Given the description of an element on the screen output the (x, y) to click on. 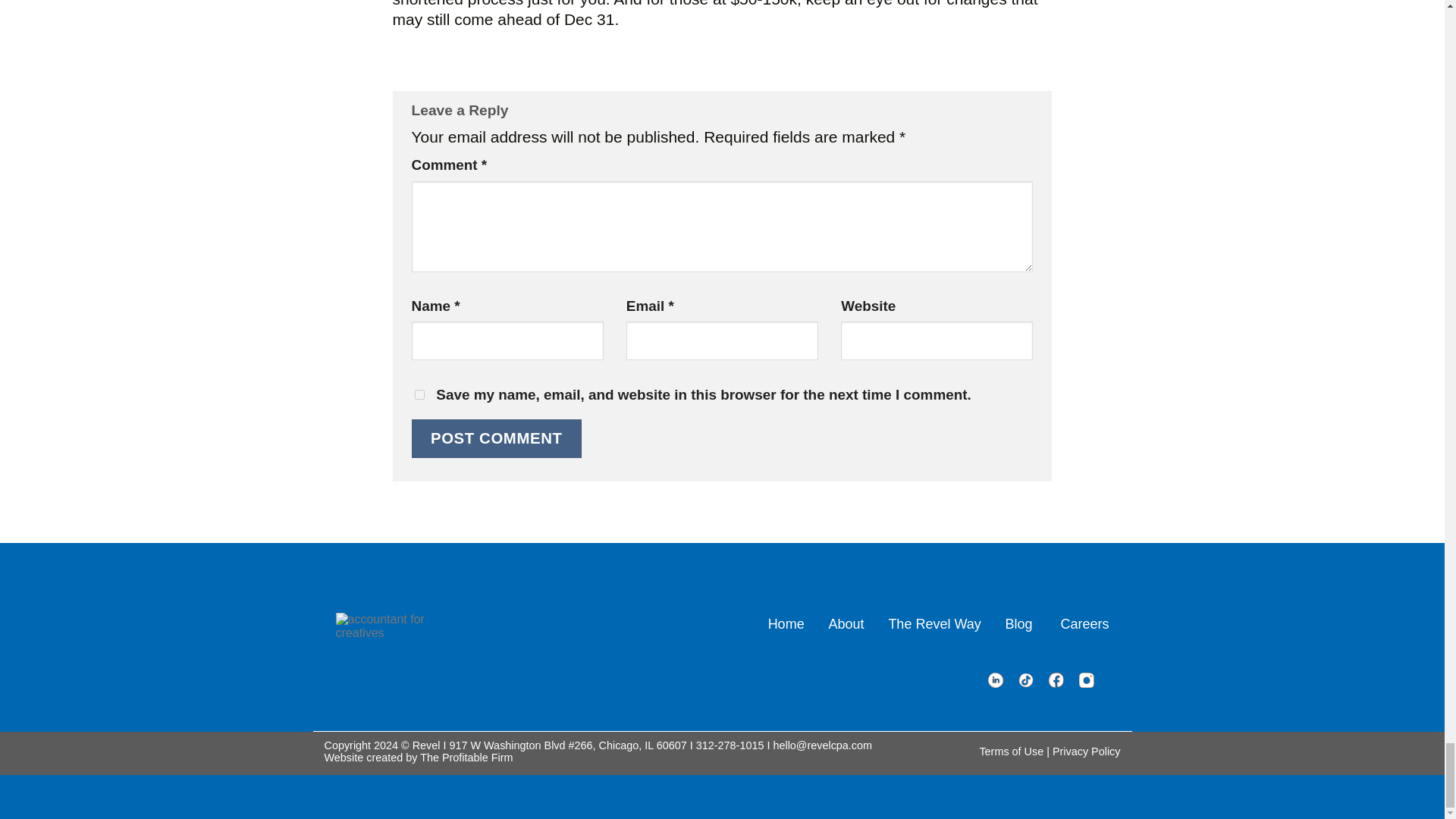
About (845, 623)
Post Comment (495, 438)
Terms of Use (1010, 751)
Home (786, 623)
Post Comment (495, 438)
Blog  (1021, 623)
yes (418, 394)
Careers (1083, 623)
The Revel Way (933, 623)
Privacy Policy (1086, 751)
